Given the description of an element on the screen output the (x, y) to click on. 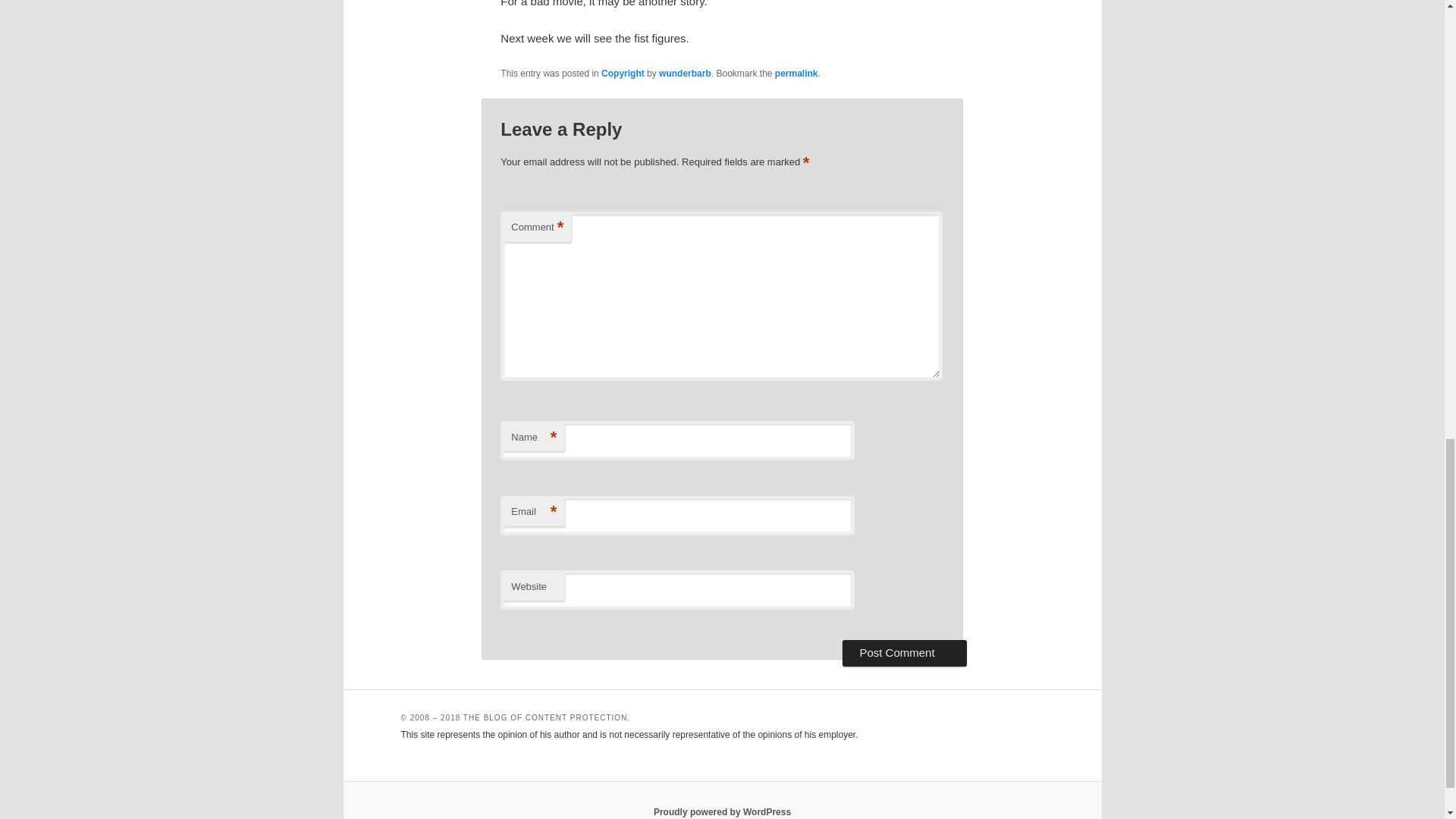
wunderbarb (685, 72)
Permalink to Is wolverine leakage a real tragedy? (796, 72)
Semantic Personal Publishing Platform (721, 811)
Copyright (623, 72)
Post Comment (904, 652)
permalink (796, 72)
Proudly powered by WordPress (721, 811)
Post Comment (904, 652)
